Given the description of an element on the screen output the (x, y) to click on. 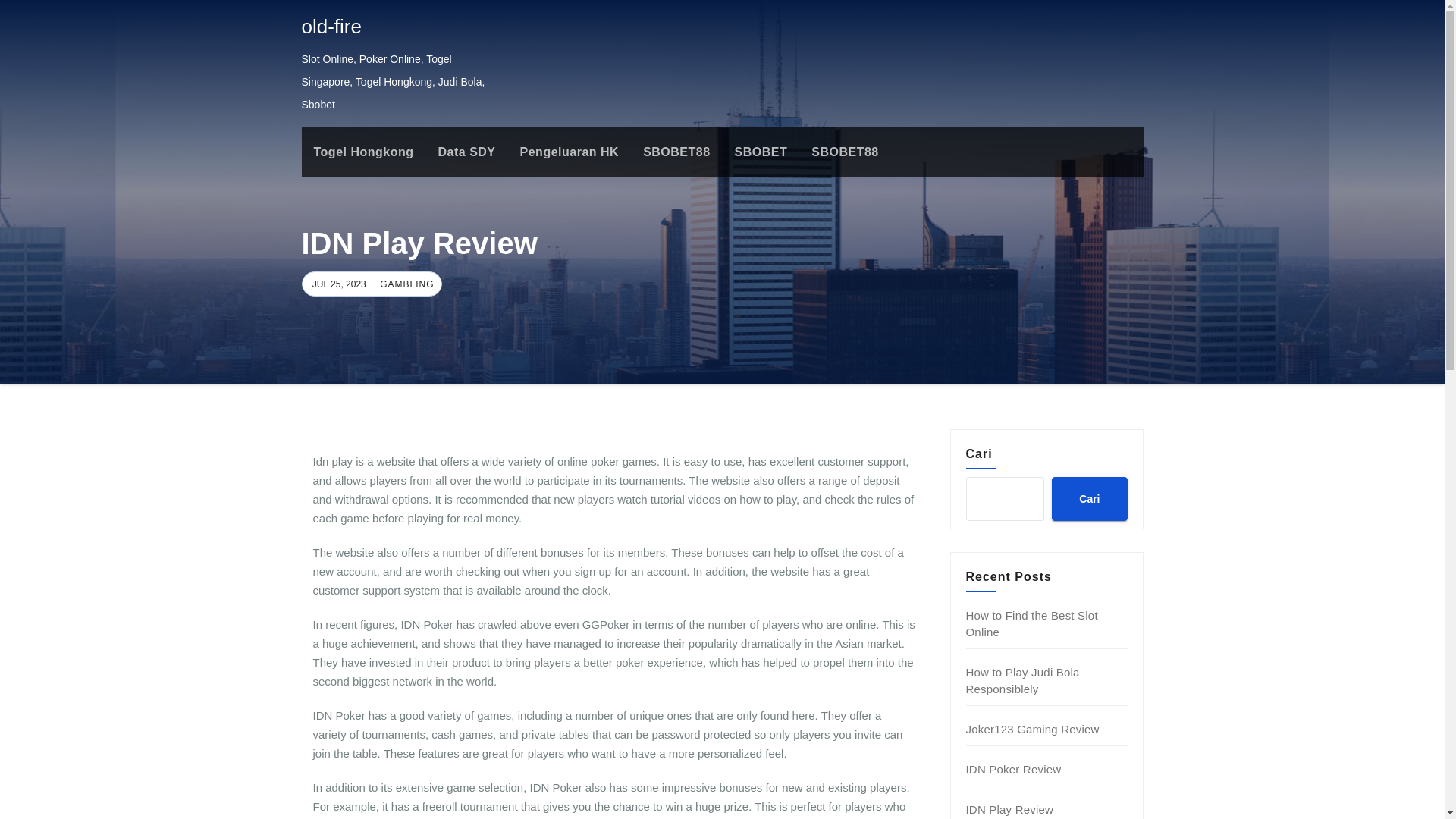
Cari (1088, 498)
SBOBET88 (844, 152)
How to Play Judi Bola Responsiblely (1023, 680)
Data SDY (467, 152)
Togel Hongkong (363, 152)
Togel Hongkong (363, 152)
How to Find the Best Slot Online (1031, 623)
Data SDY (467, 152)
SBOBET88 (676, 152)
SBOBET (760, 152)
Pengeluaran HK (569, 152)
IDN Poker Review (1013, 768)
Pengeluaran HK (569, 152)
GAMBLING (404, 284)
IDN Play Review (1010, 809)
